Given the description of an element on the screen output the (x, y) to click on. 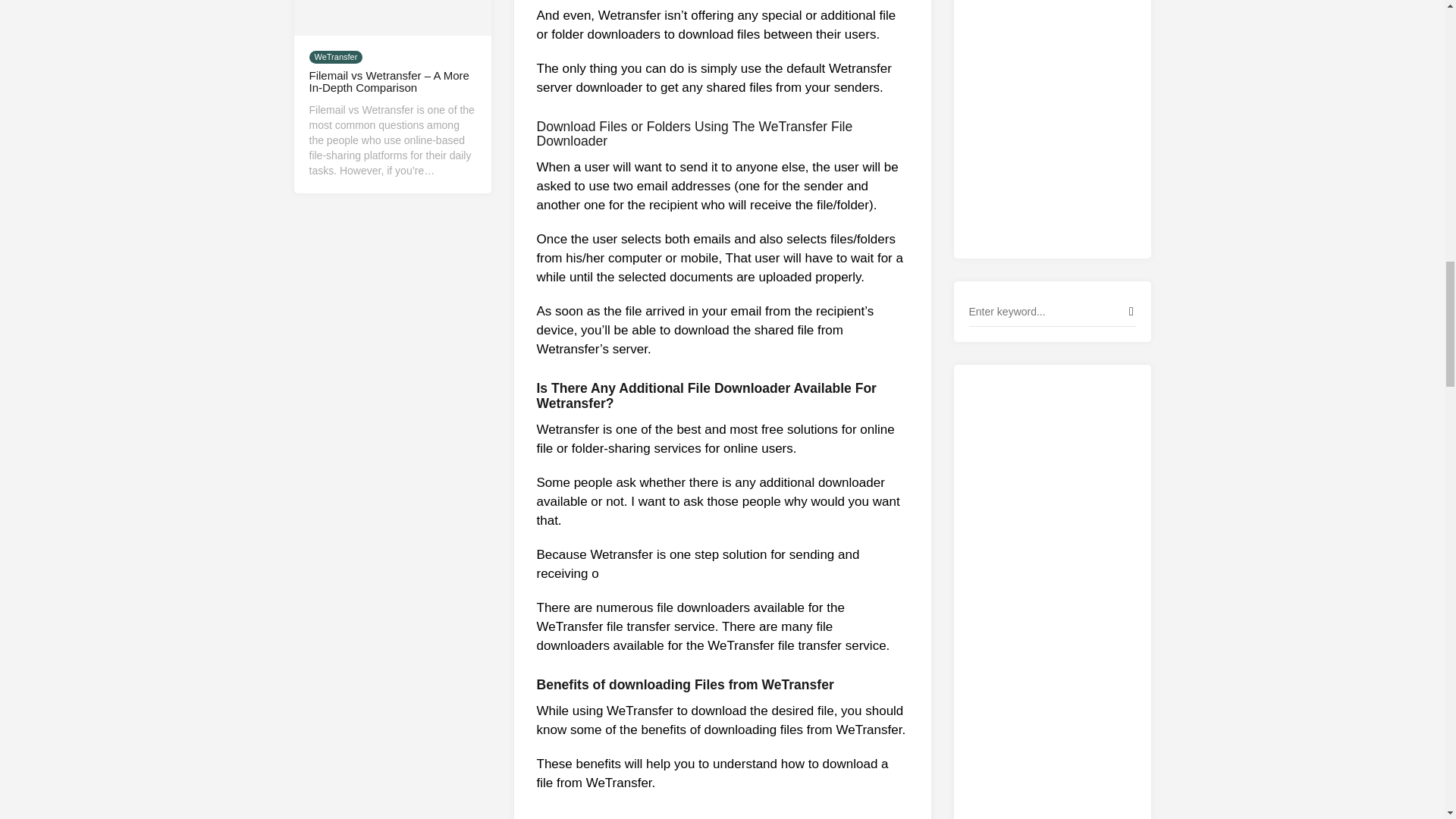
Advertisement (1052, 114)
